Given the description of an element on the screen output the (x, y) to click on. 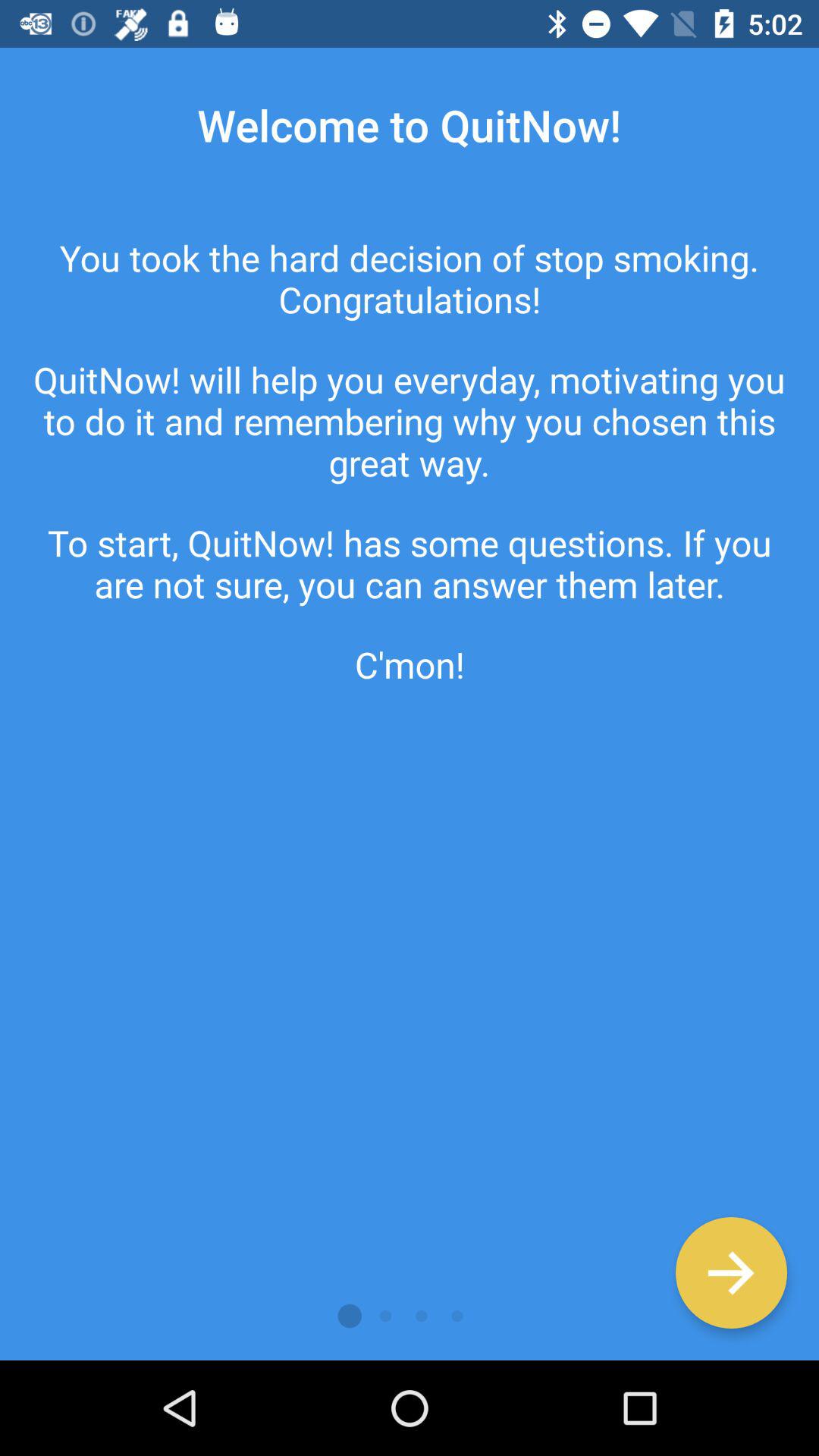
go next (731, 1272)
